Given the description of an element on the screen output the (x, y) to click on. 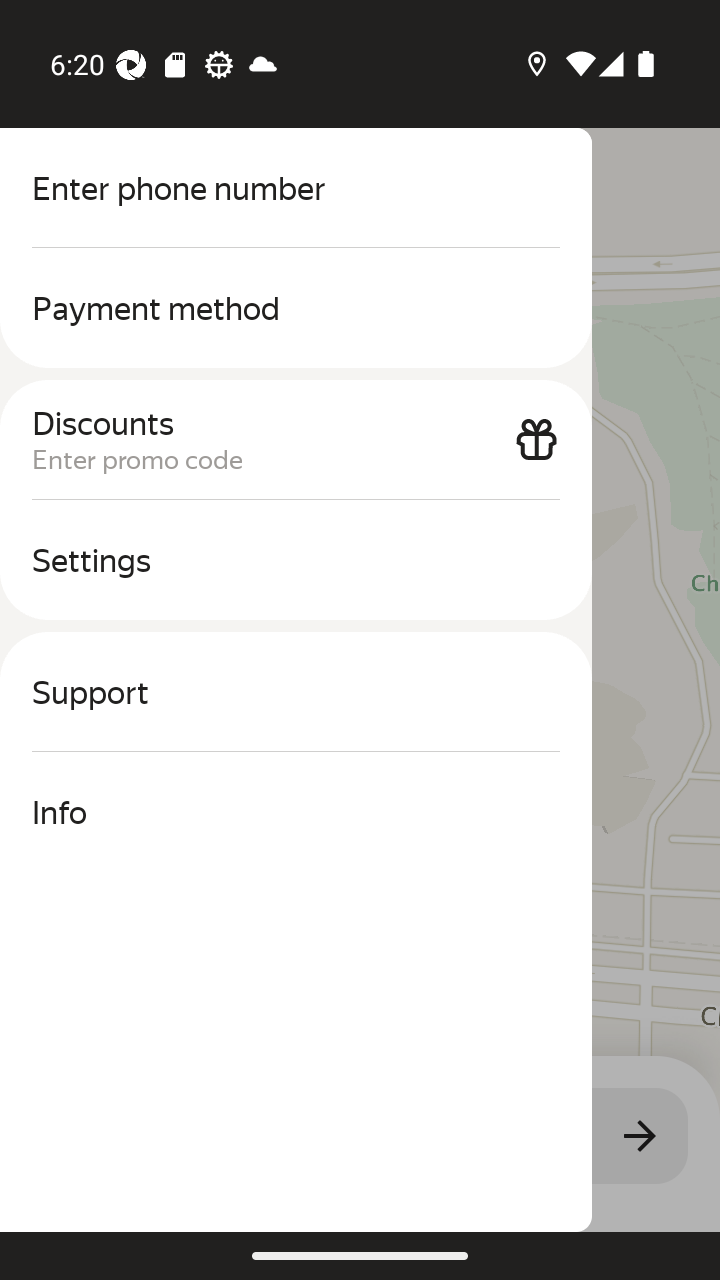
Enter phone number (295, 188)
Payment method (295, 308)
Settings (295, 559)
Support (295, 692)
Info (295, 811)
